Given the description of an element on the screen output the (x, y) to click on. 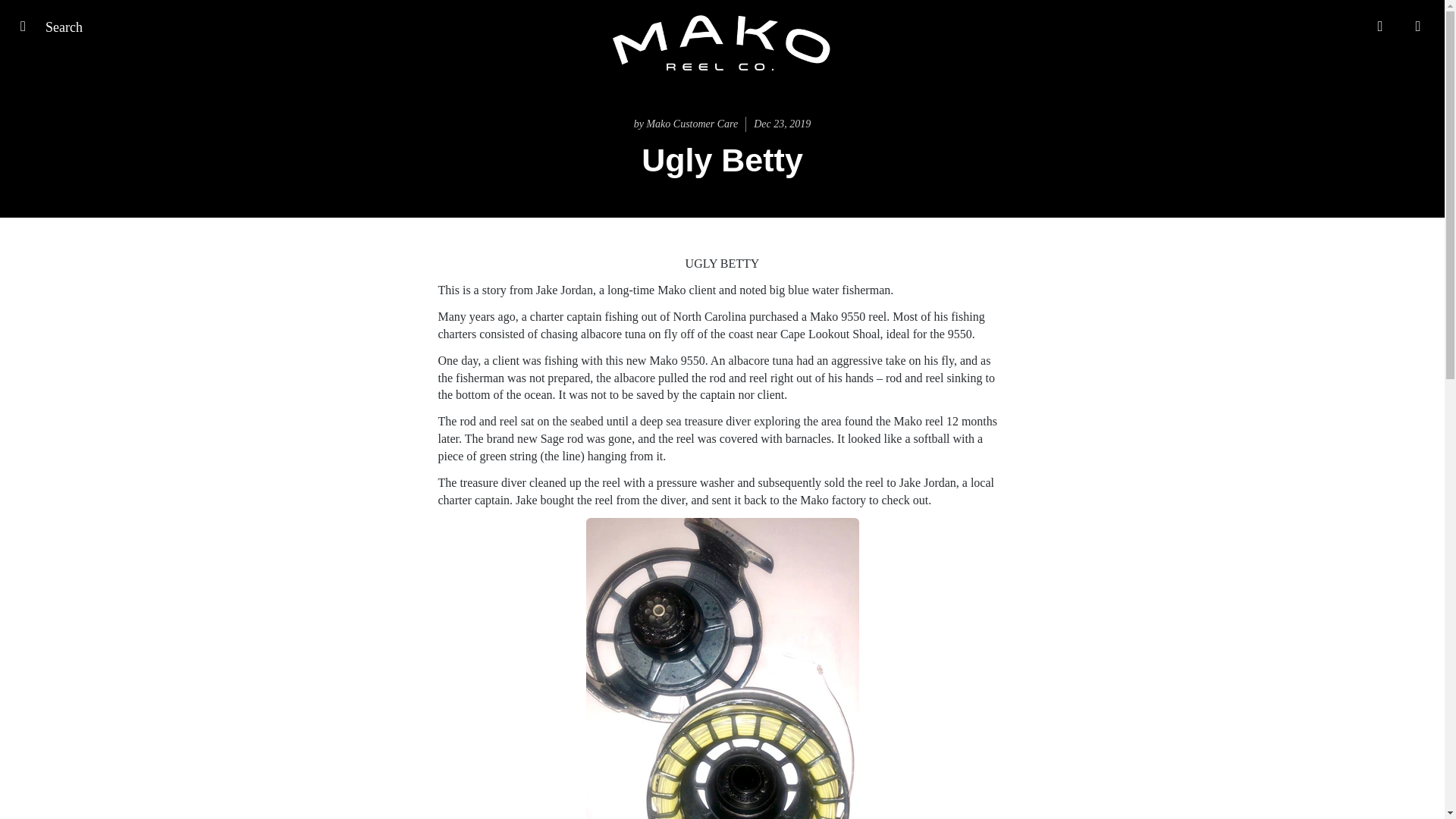
Search (28, 26)
My account (1379, 26)
You have 0 items in your cart (1417, 26)
